Given the description of an element on the screen output the (x, y) to click on. 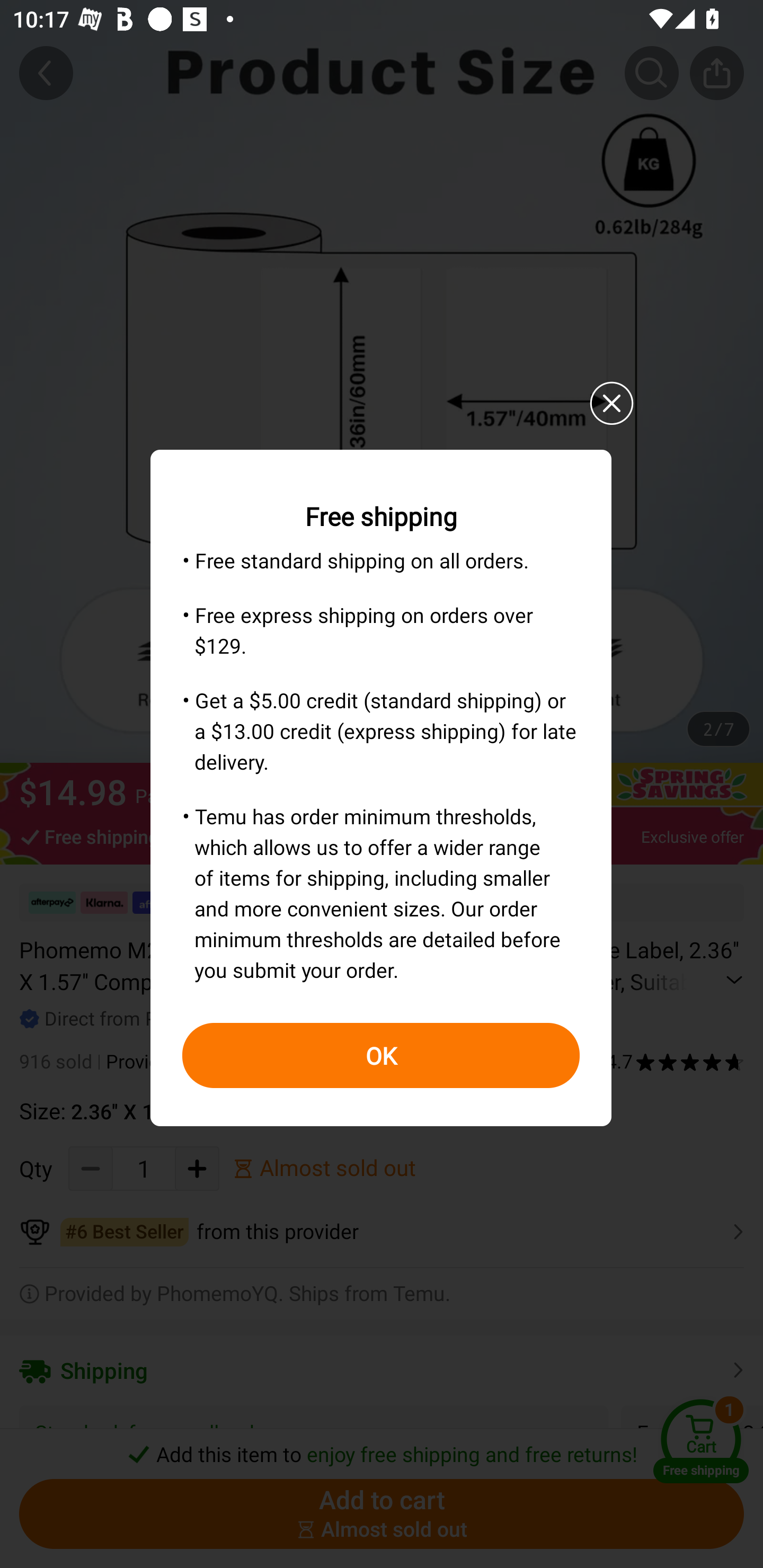
close (611, 403)
OK (380, 1055)
